Given the description of an element on the screen output the (x, y) to click on. 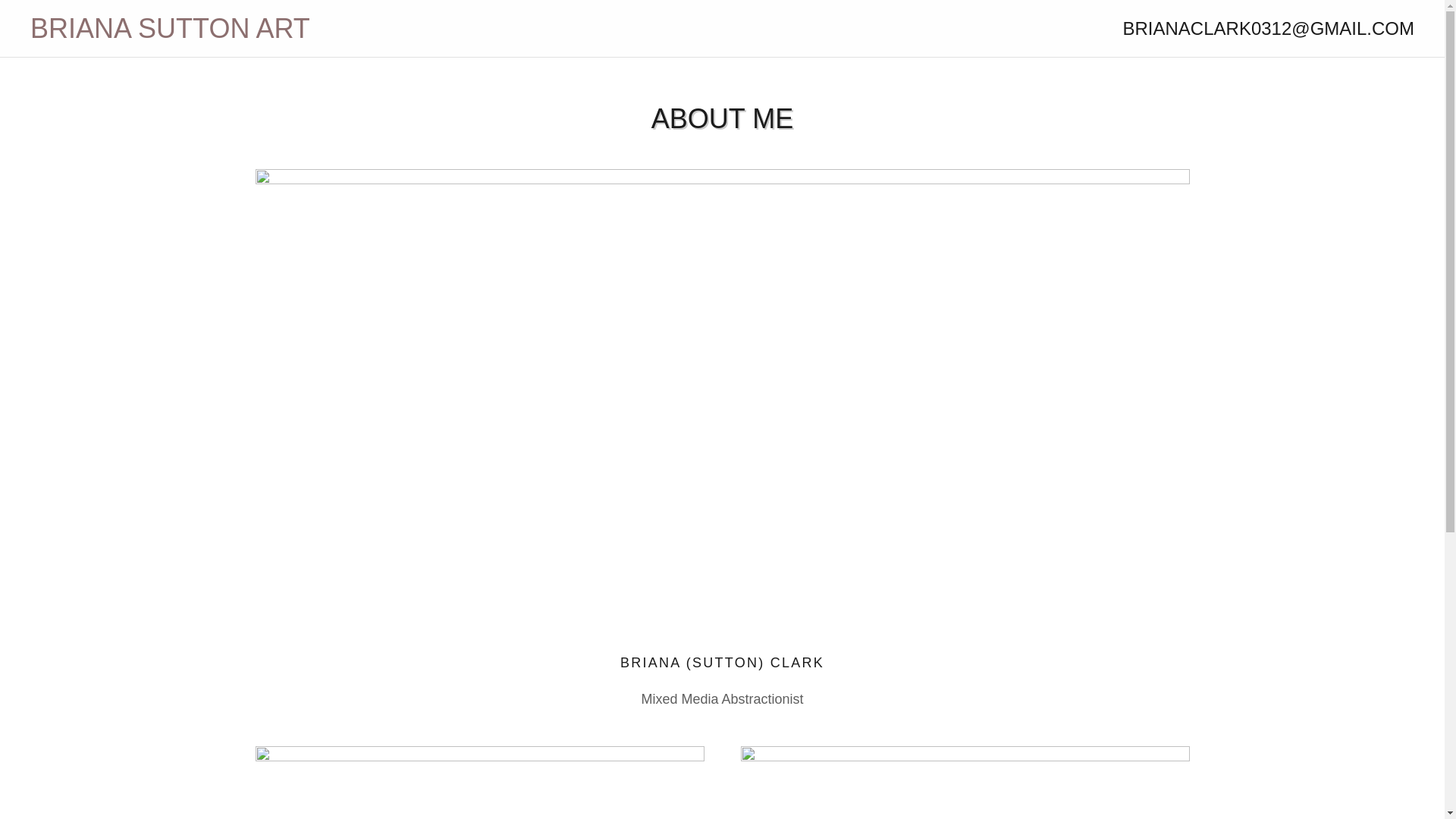
BRIANA SUTTON ART (202, 32)
Briana Sutton Art (202, 32)
